Given the description of an element on the screen output the (x, y) to click on. 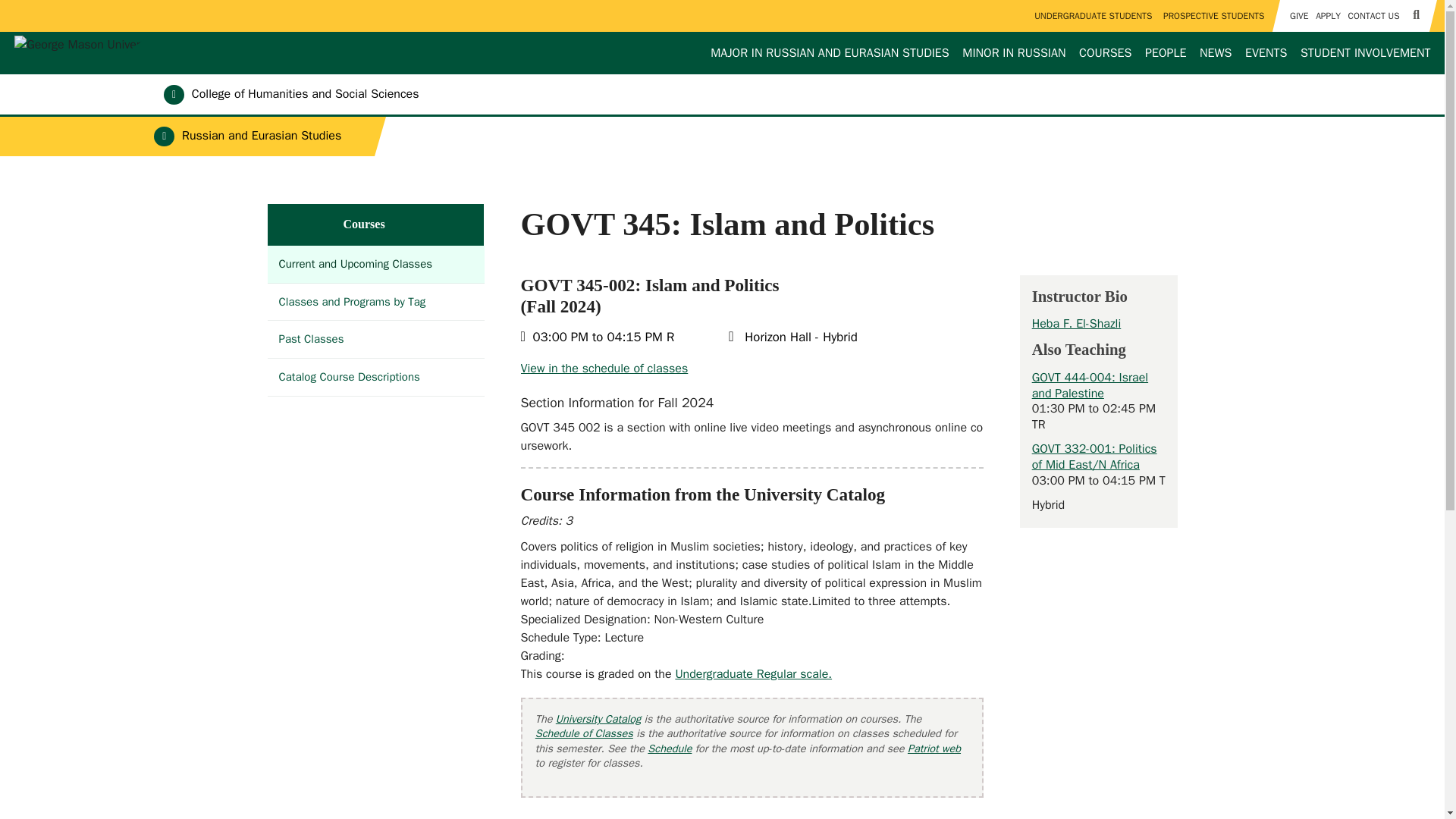
APPLY (1327, 15)
PROSPECTIVE STUDENTS (1213, 15)
Minor in Russian (1014, 52)
Student Involvement (1365, 52)
Undergraduate students (1093, 15)
CONTACT US (1373, 15)
MAJOR IN RUSSIAN AND EURASIAN STUDIES (829, 52)
COURSES (1105, 52)
UNDERGRADUATE STUDENTS (1093, 15)
News (1215, 52)
